Given the description of an element on the screen output the (x, y) to click on. 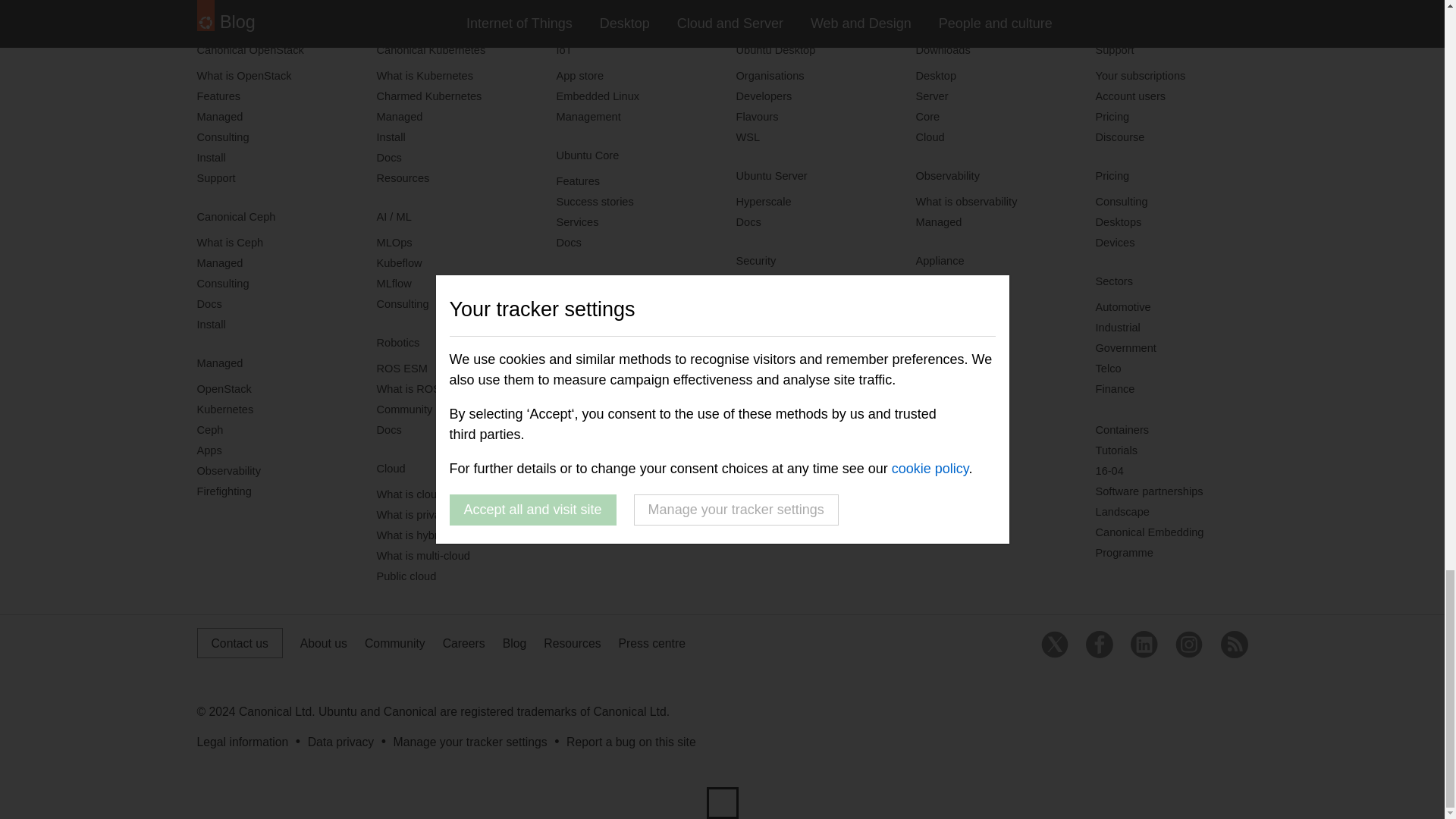
Follow Ubuntu on Twitter (1054, 644)
Find Canonical on LinkedIn (1144, 644)
Use the Ubuntu Blog rss feed (1234, 644)
Follow Ubuntu on Instagram (1188, 644)
Follow Ubuntu on Facebook (1099, 644)
